Given the description of an element on the screen output the (x, y) to click on. 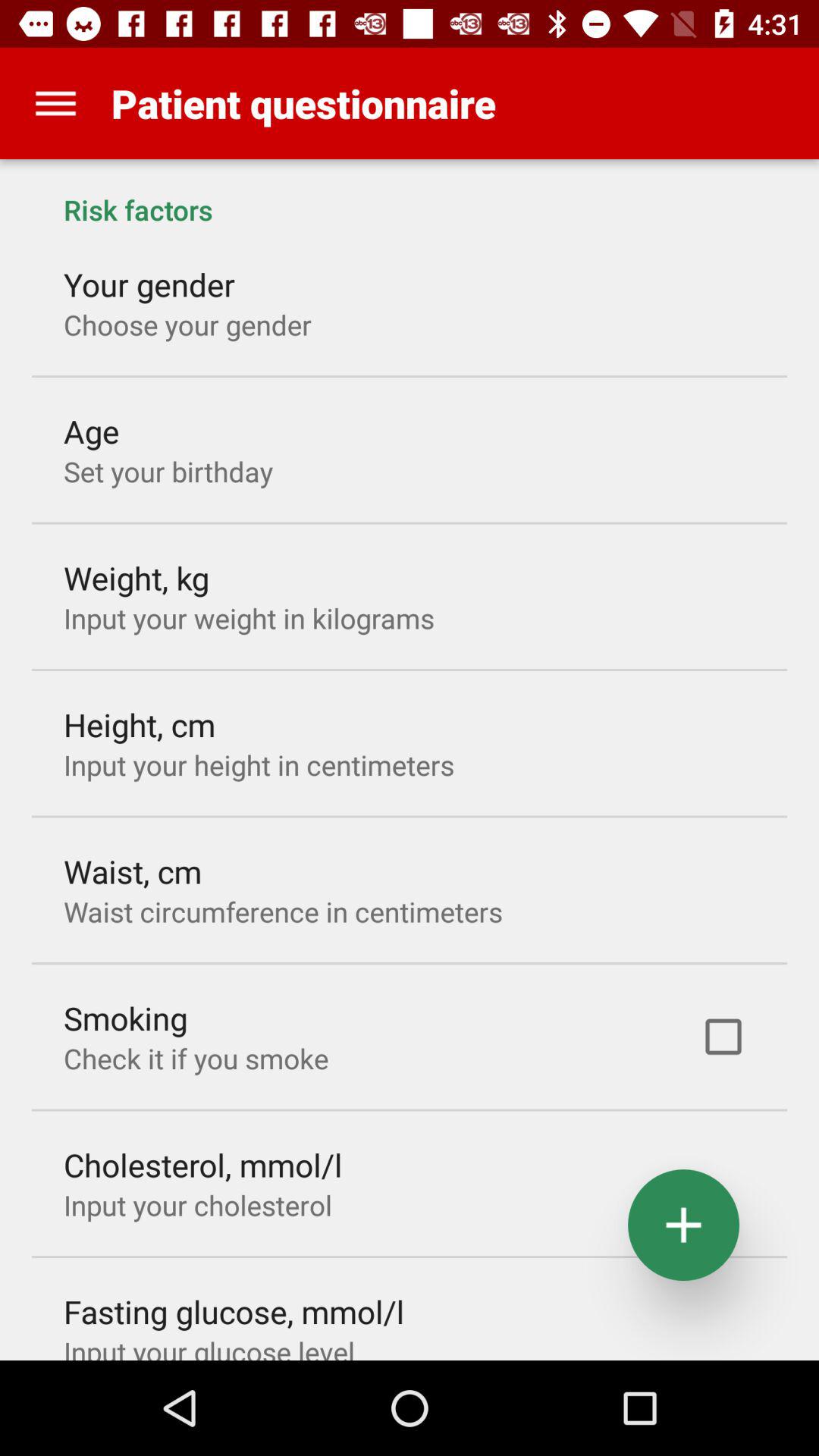
click icon below age item (168, 471)
